Given the description of an element on the screen output the (x, y) to click on. 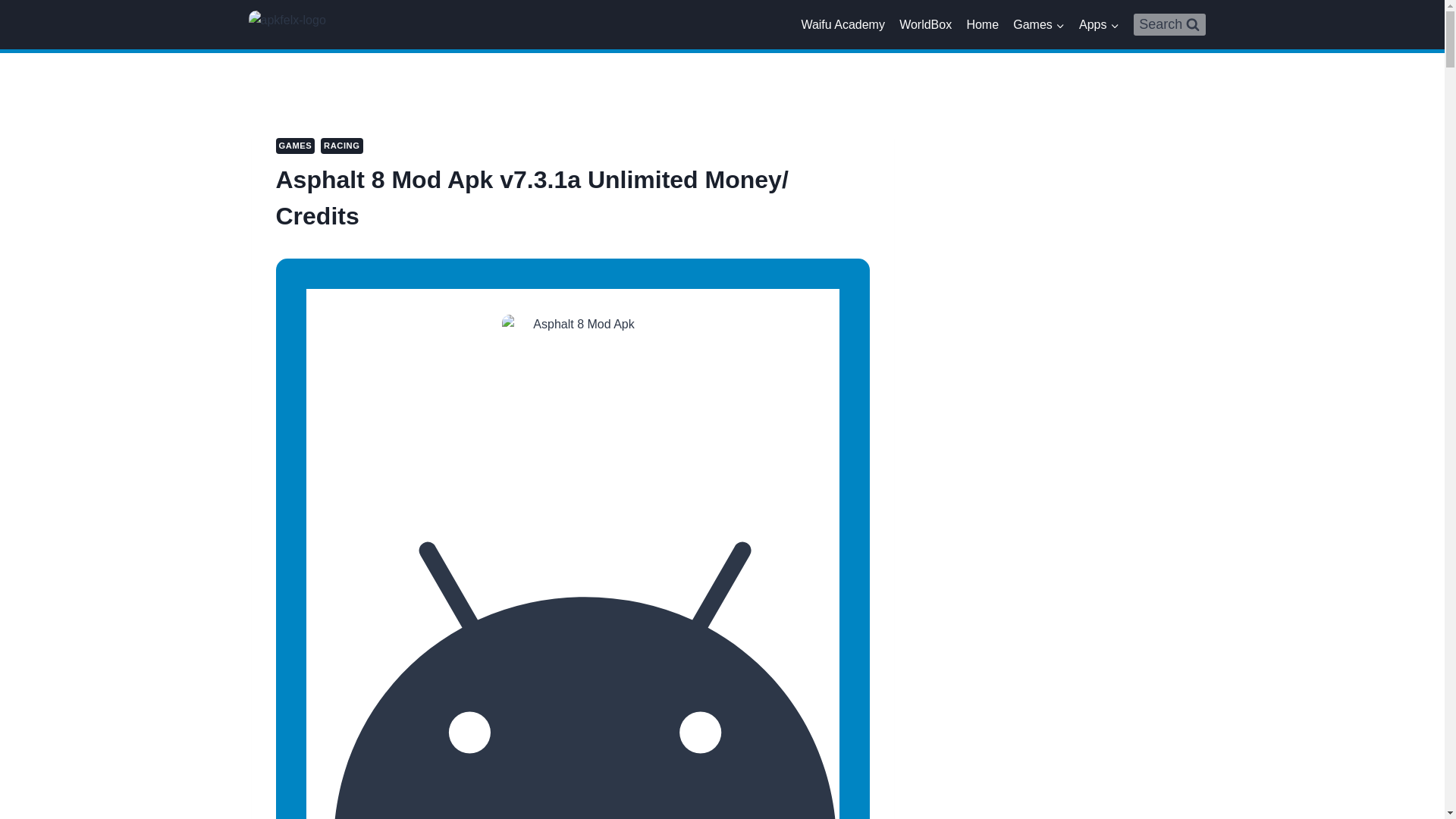
Search (1169, 24)
Home (982, 24)
RACING (341, 145)
WorldBox (925, 24)
Apps (1098, 24)
Waifu Academy (842, 24)
Games (1038, 24)
GAMES (295, 145)
